Given the description of an element on the screen output the (x, y) to click on. 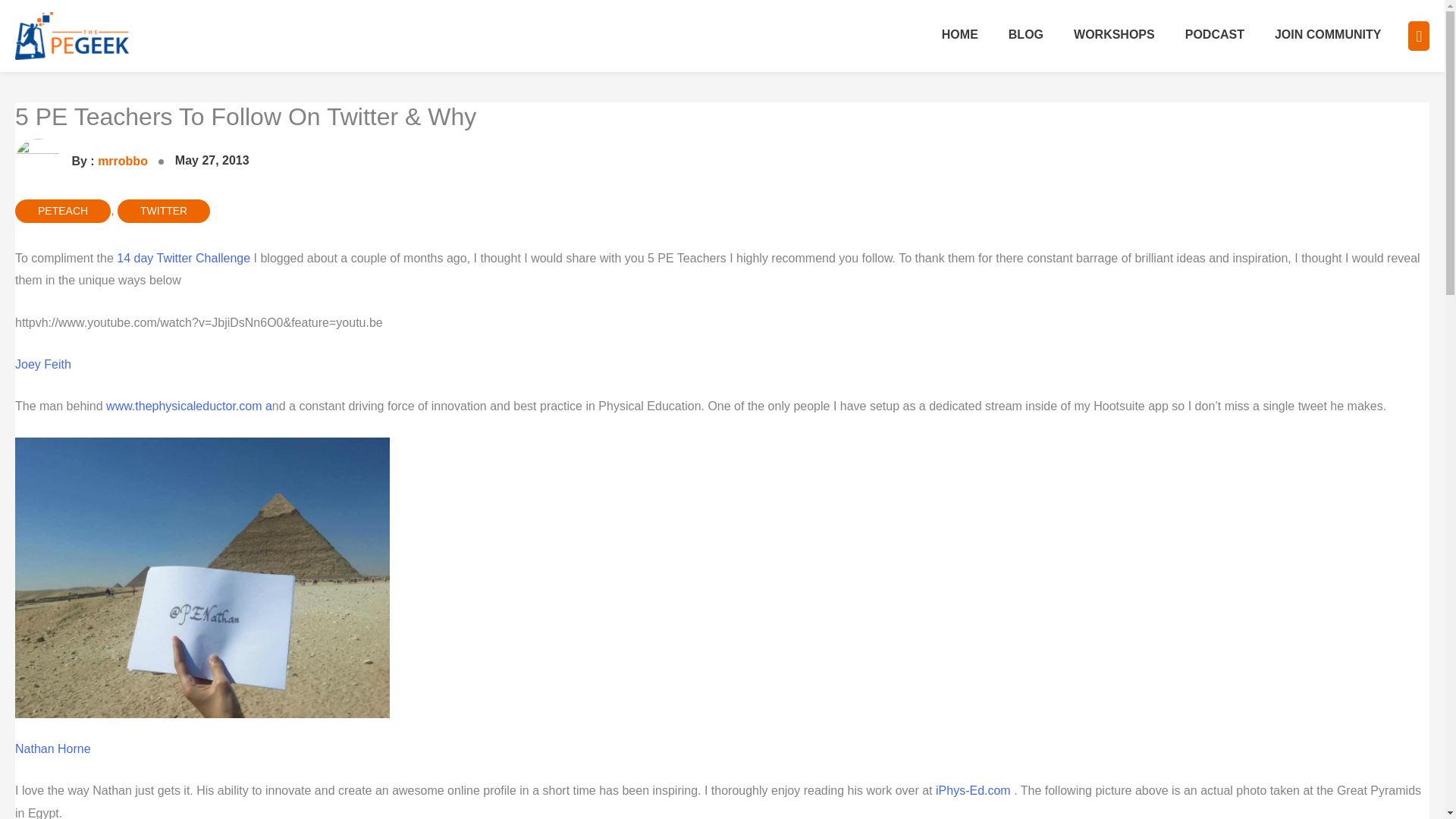
14 day Twitter Challenge (181, 257)
View all posts by mrrobbo (82, 160)
Joey Feith (42, 364)
iPhys-Ed.com (974, 789)
TWITTER (163, 210)
Nathan Horne (52, 748)
WORKSHOPS (1114, 36)
JOIN COMMUNITY (1327, 36)
PETEACH (62, 210)
BLOG (1025, 36)
